Given the description of an element on the screen output the (x, y) to click on. 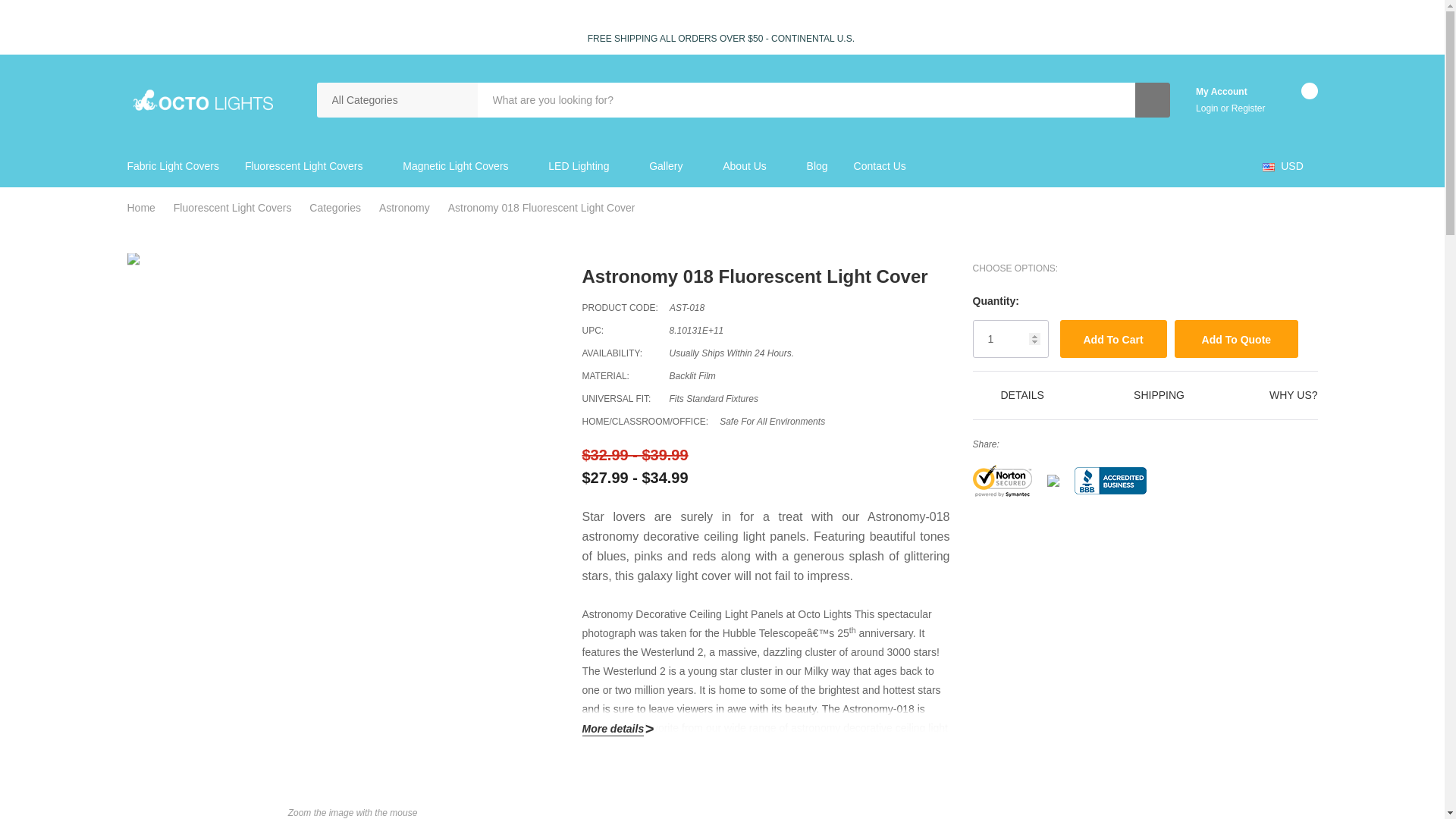
Login (1208, 108)
Open Print in a new popup (1056, 443)
1 (1010, 338)
Open Pinterest in a new popup (1100, 443)
Register (1248, 108)
Fabric Light Covers (179, 166)
Open Twitter in a new popup (1078, 443)
Open Facebook in a new popup (1012, 443)
Fluorescent Light Covers (303, 166)
Add to Cart (1113, 338)
